Given the description of an element on the screen output the (x, y) to click on. 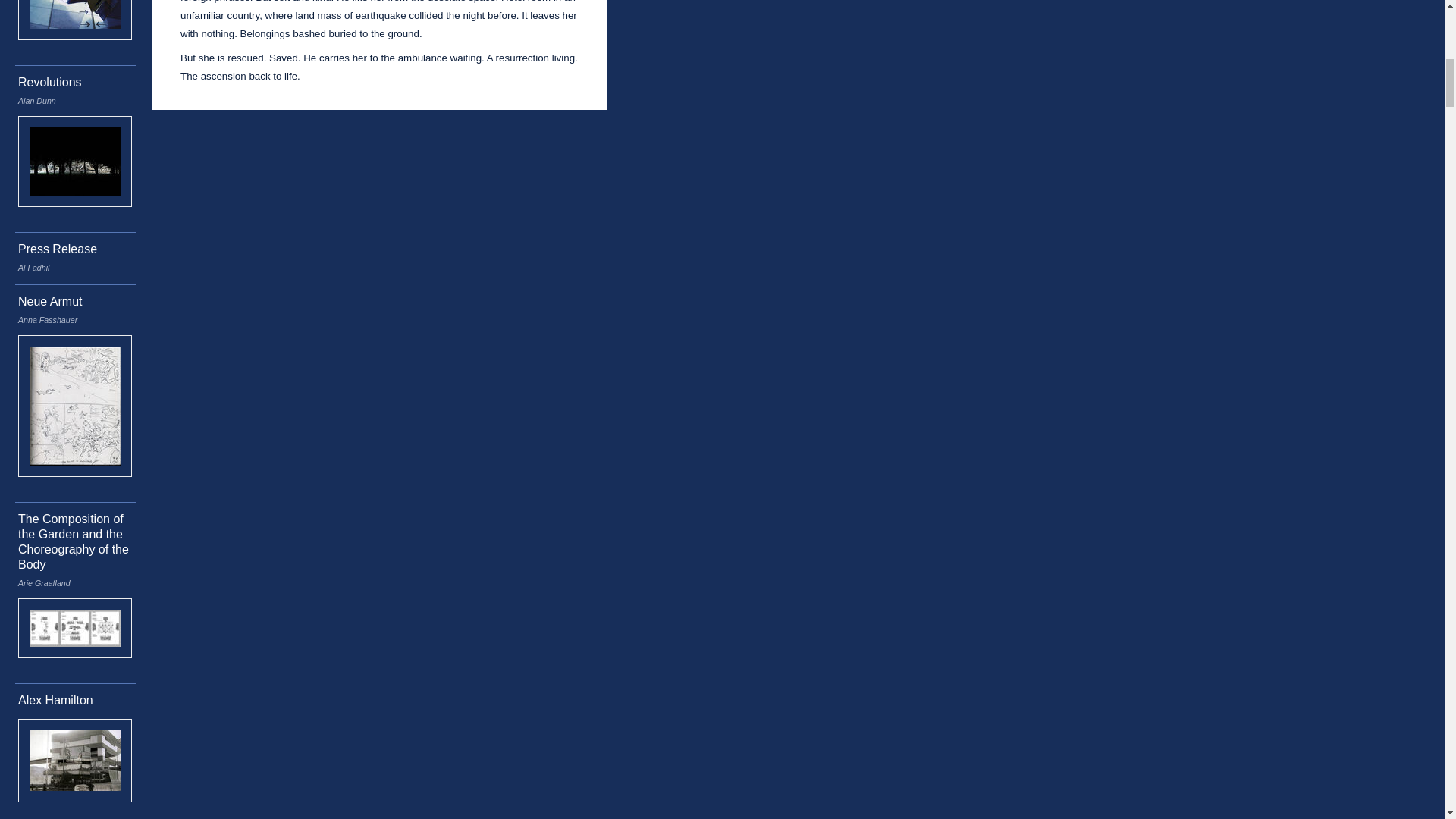
Alex Hamilton (55, 700)
Press Release (57, 248)
Revolutions (49, 82)
Neue Armut (49, 301)
